Given the description of an element on the screen output the (x, y) to click on. 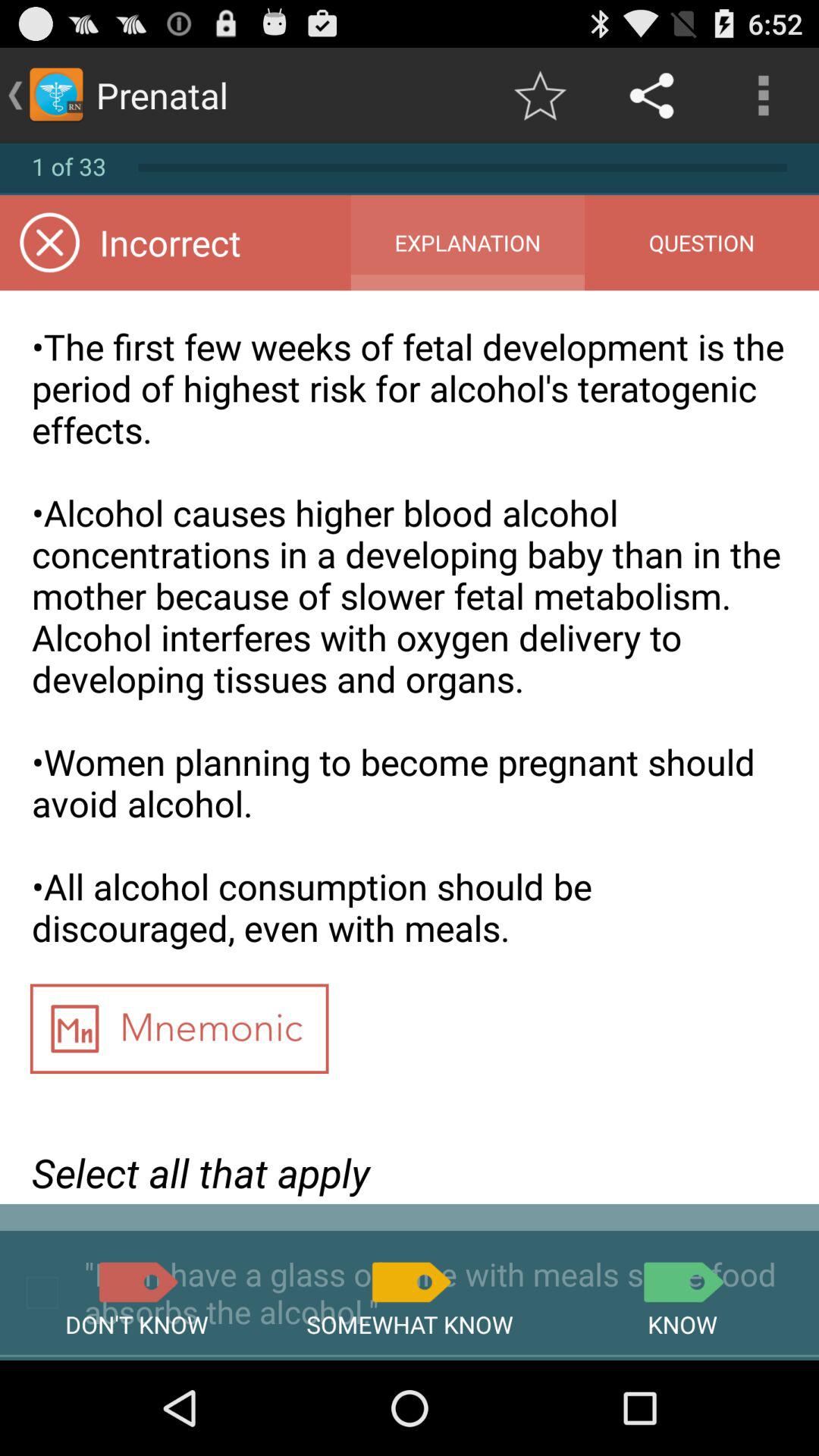
mnemonic to help remember (179, 1033)
